Given the description of an element on the screen output the (x, y) to click on. 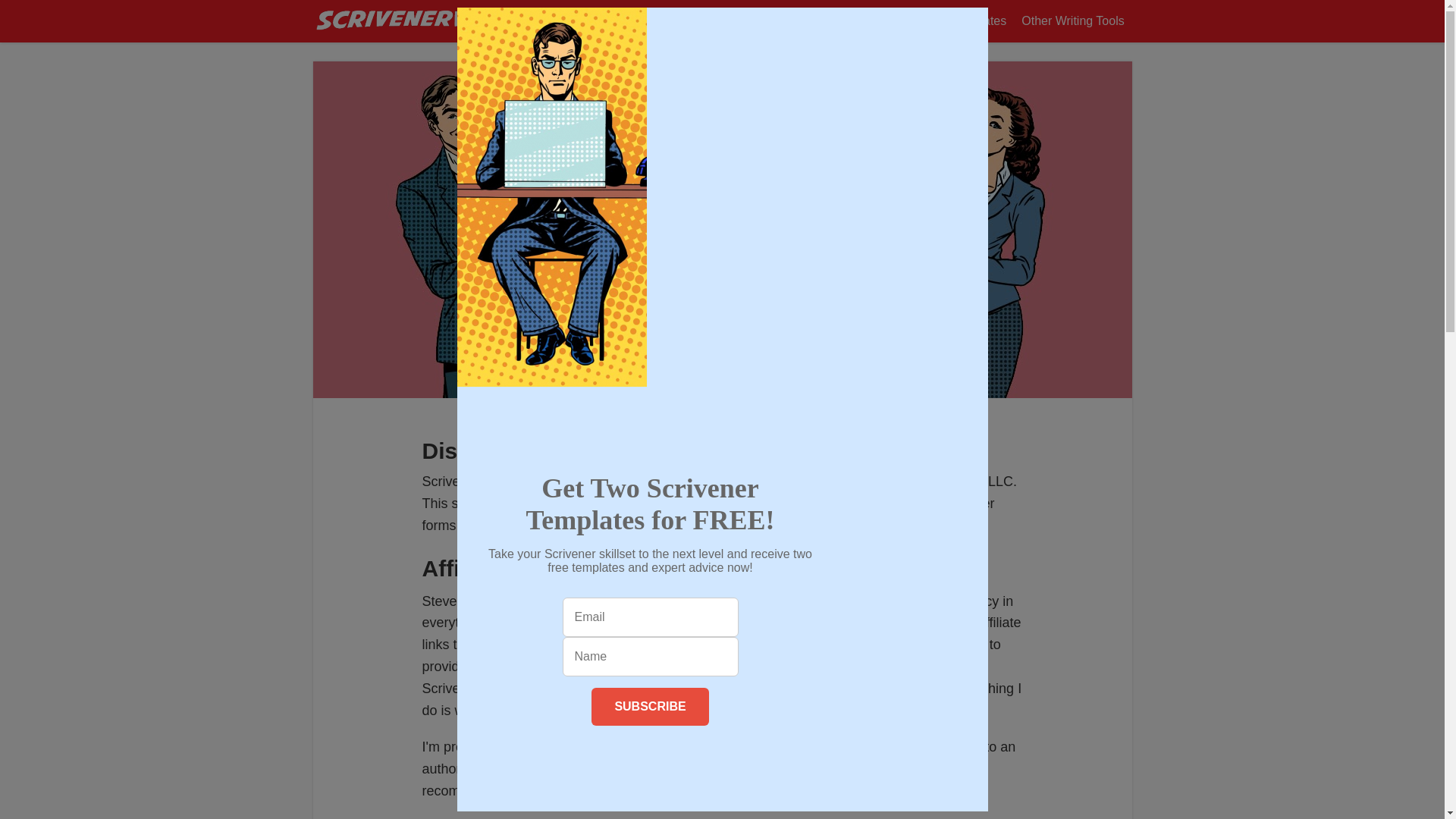
Free Scrivener Templates (936, 21)
Scrivener Coupons (762, 21)
Scrivener Coupons and Discounts (762, 21)
Blog (840, 21)
Other Writing Tools (1072, 21)
